Given the description of an element on the screen output the (x, y) to click on. 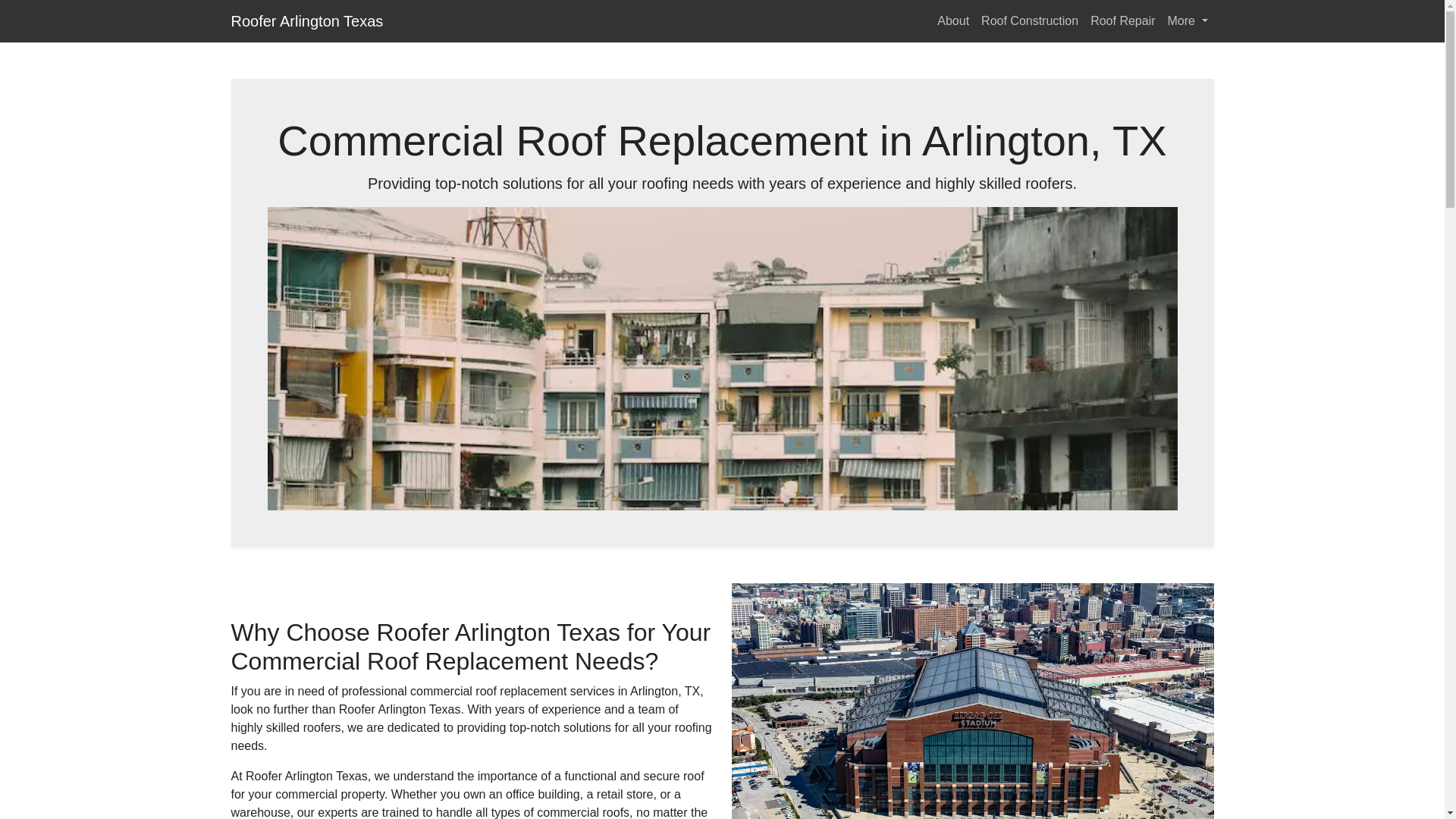
Roofer Arlington Texas (306, 20)
Roof Construction (1029, 20)
More (1187, 20)
Roof Repair (1122, 20)
About (953, 20)
